Given the description of an element on the screen output the (x, y) to click on. 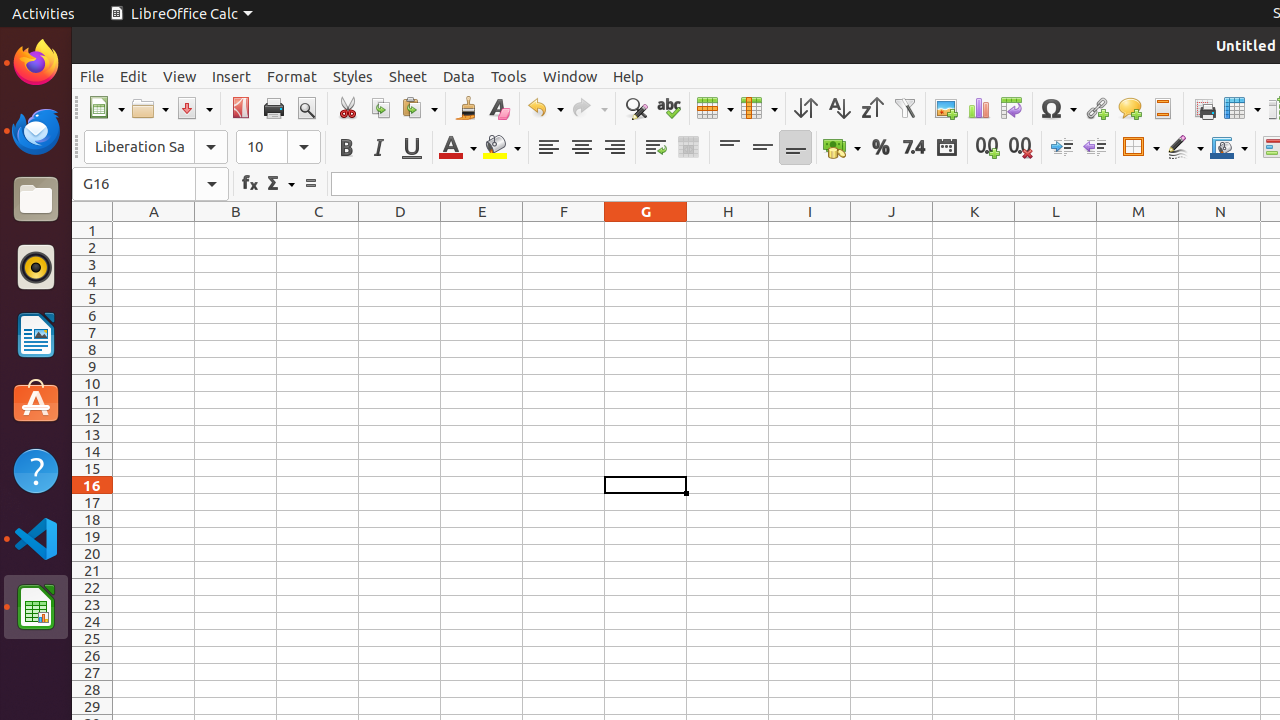
K1 Element type: table-cell (974, 230)
Window Element type: menu (570, 76)
Cut Element type: push-button (347, 108)
Align Bottom Element type: push-button (795, 147)
